Given the description of an element on the screen output the (x, y) to click on. 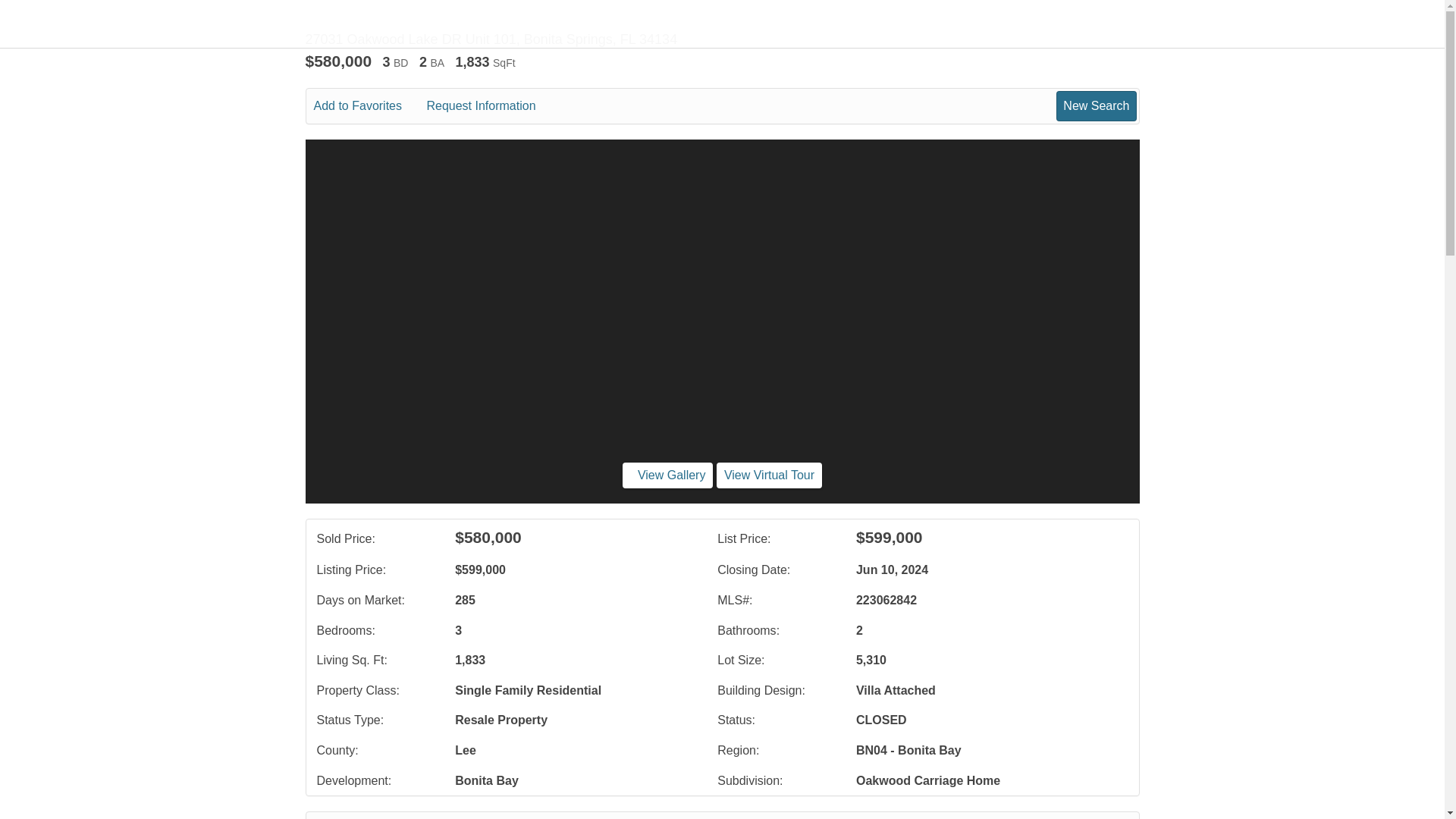
New Search (1094, 818)
Call Us (427, 818)
New Search (1096, 105)
Add to Favorites (368, 106)
Request Information (491, 106)
Share (583, 818)
View Gallery (668, 475)
View Virtual Tour (769, 474)
